Given the description of an element on the screen output the (x, y) to click on. 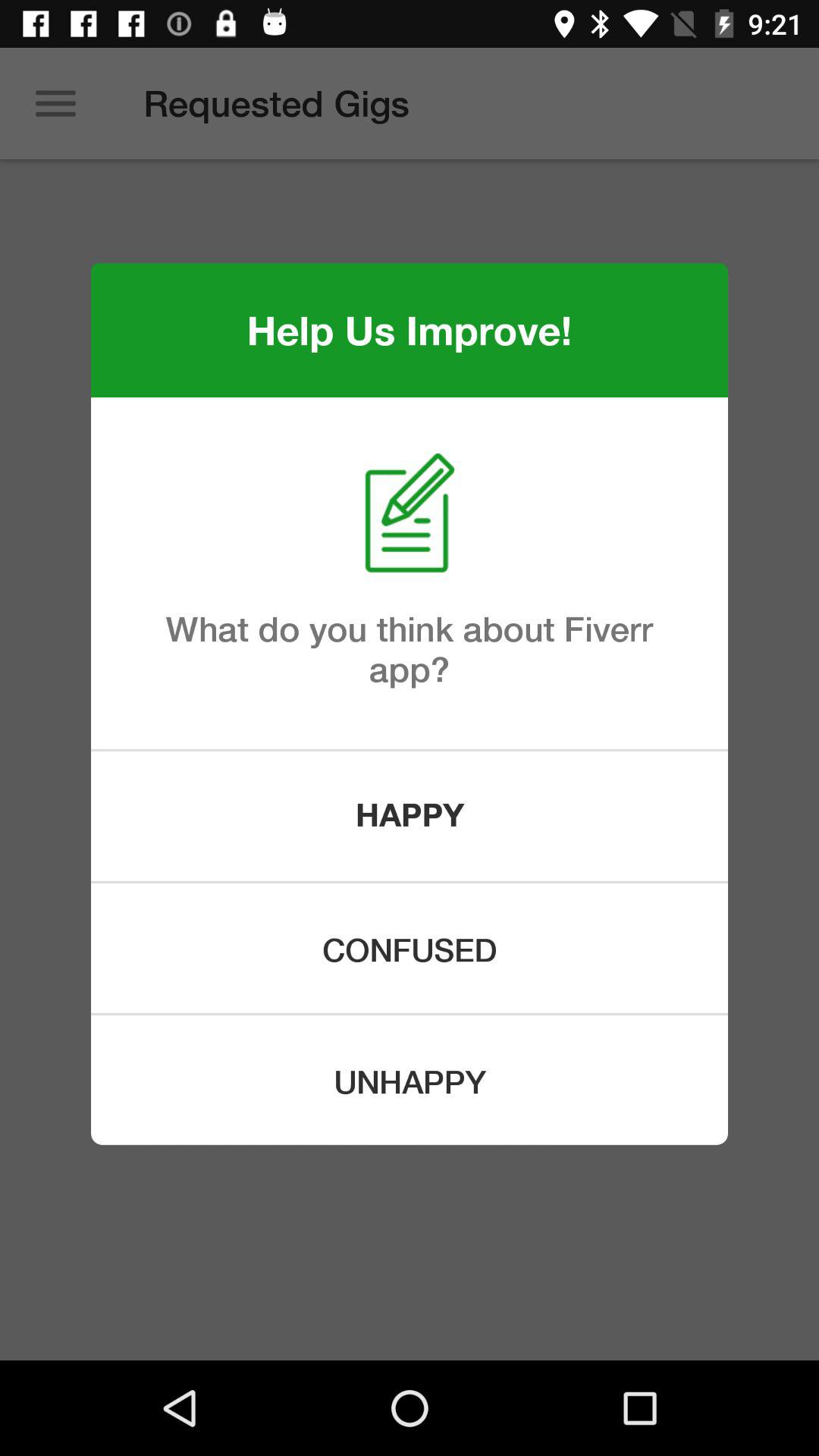
scroll to happy icon (409, 815)
